Given the description of an element on the screen output the (x, y) to click on. 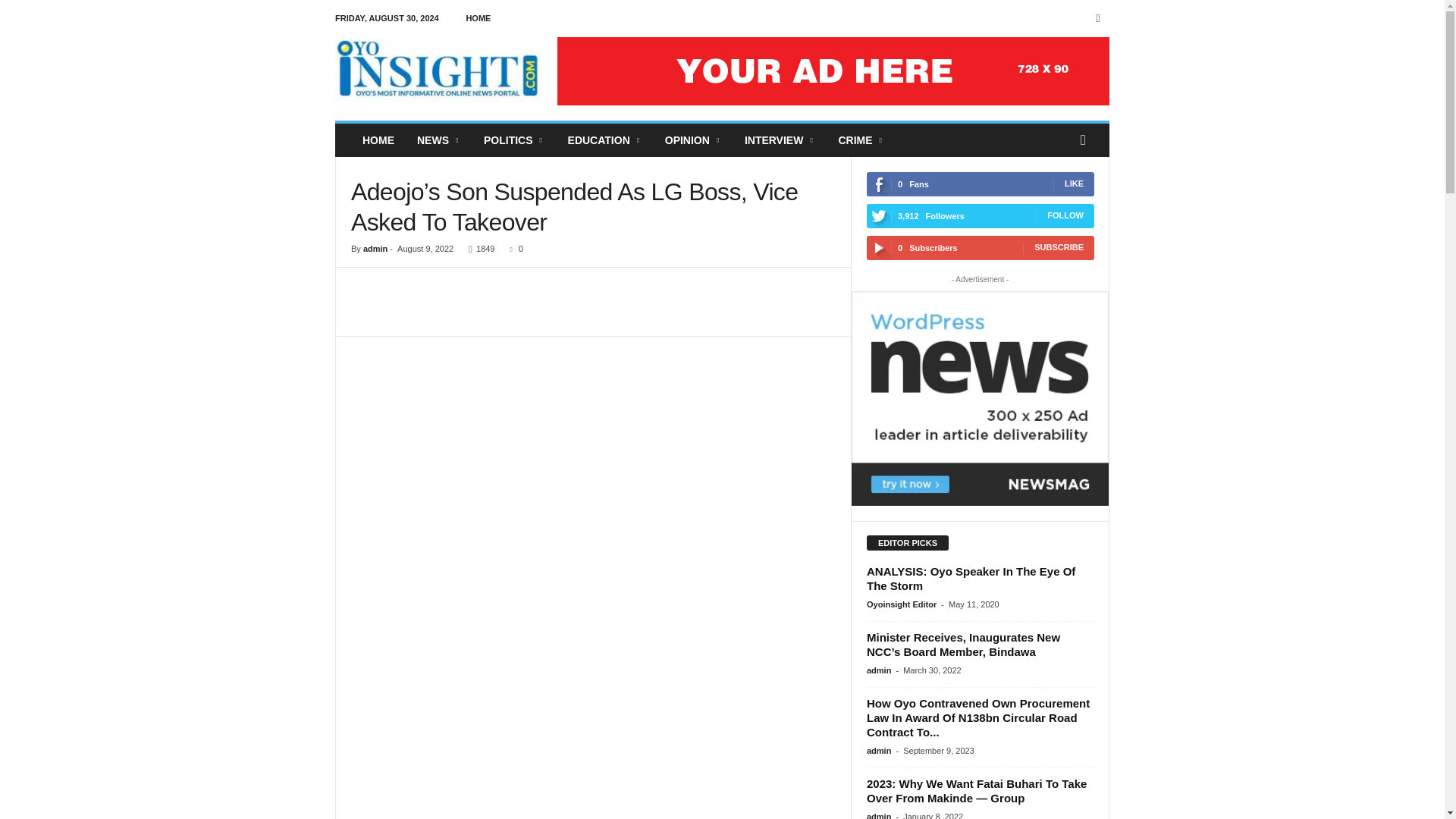
HOME (477, 17)
Oyoinsight (437, 70)
HOME (378, 140)
POLITICS (513, 140)
NEWS (438, 140)
